Given the description of an element on the screen output the (x, y) to click on. 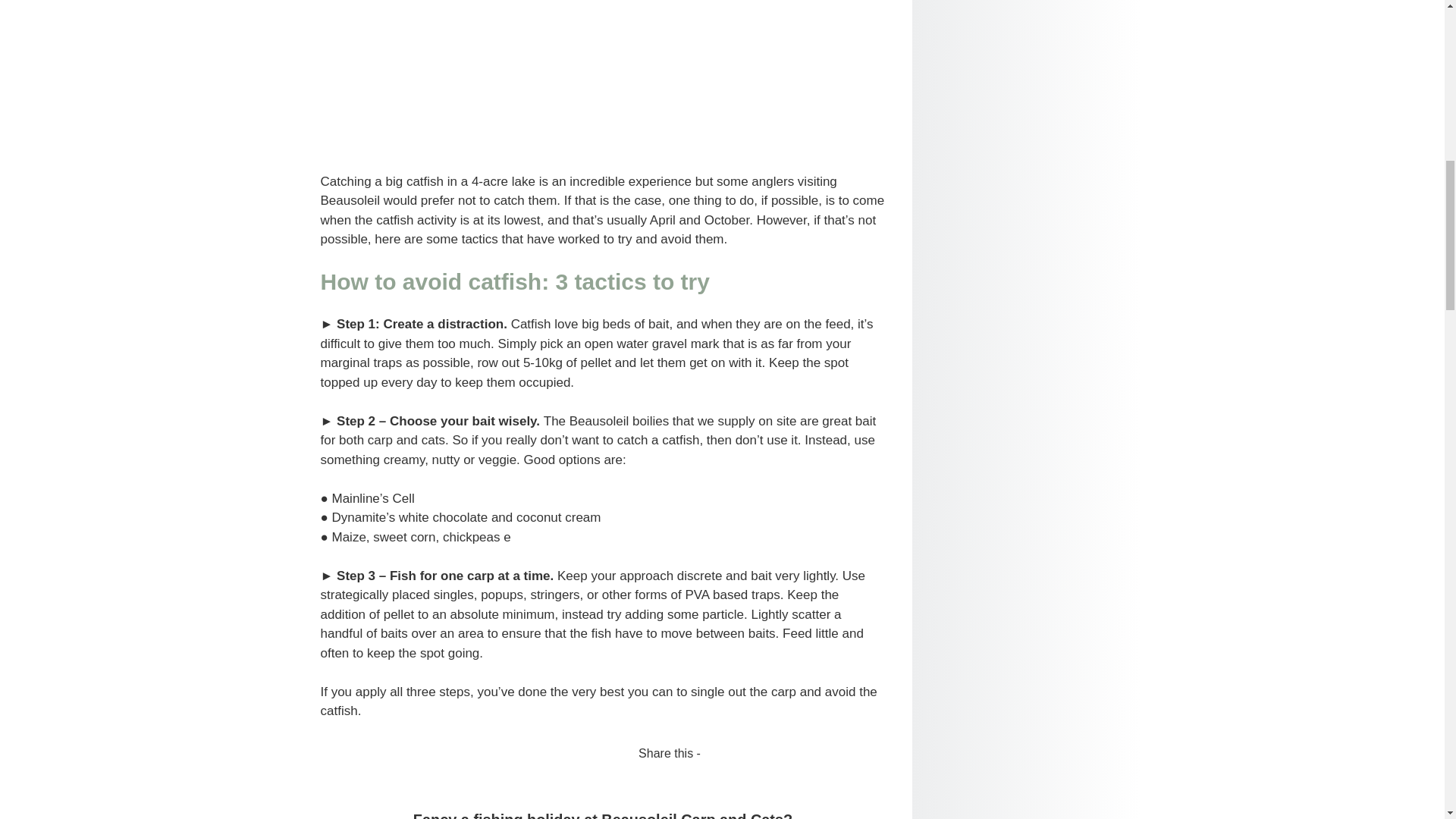
facebook (338, 761)
twitter (371, 761)
email (405, 761)
